Given the description of an element on the screen output the (x, y) to click on. 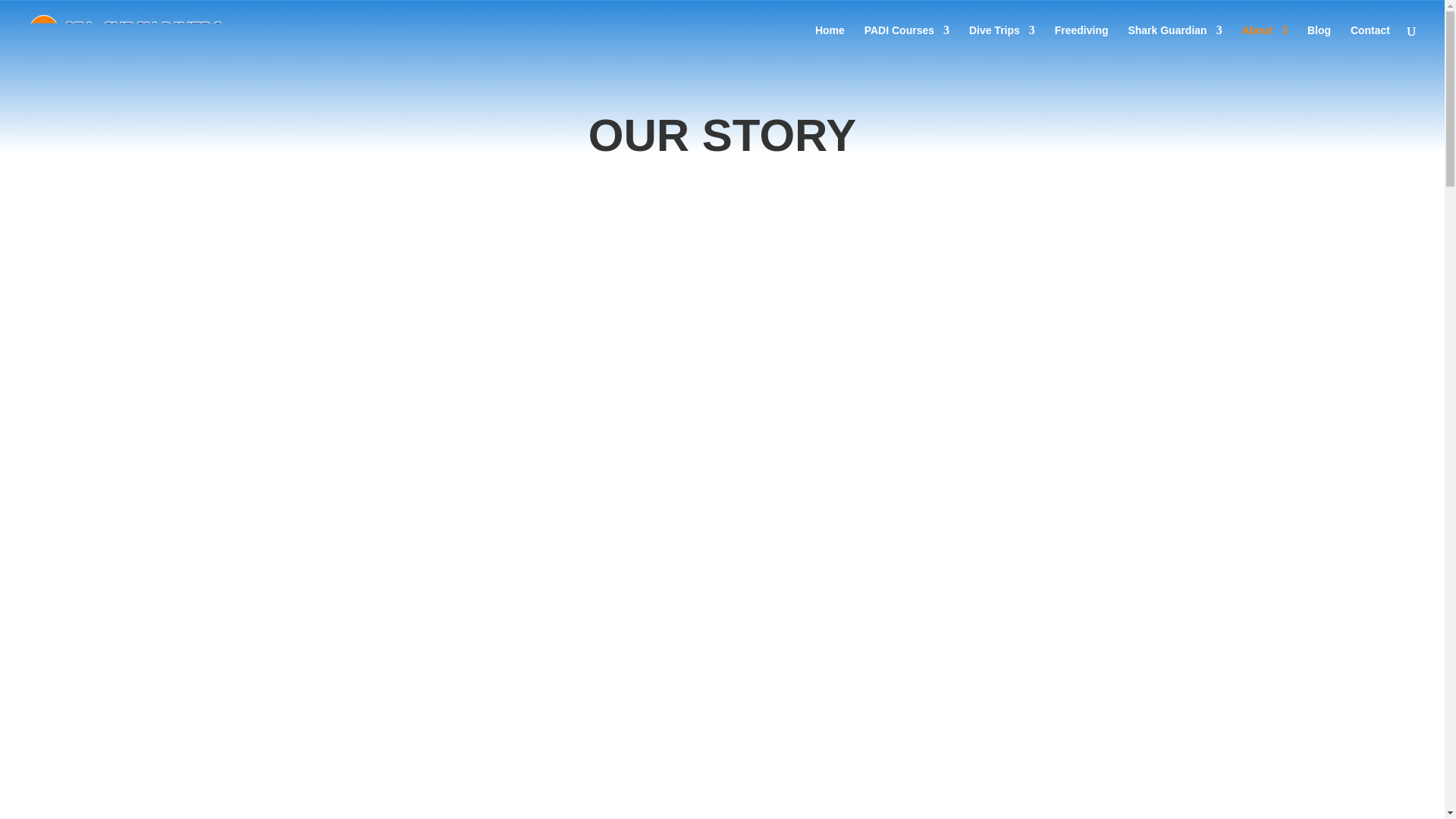
Shark Guardian (1173, 42)
Contact (1370, 42)
Dive Trips (1002, 42)
About (1264, 42)
PADI Courses (906, 42)
Freediving (1081, 42)
